Given the description of an element on the screen output the (x, y) to click on. 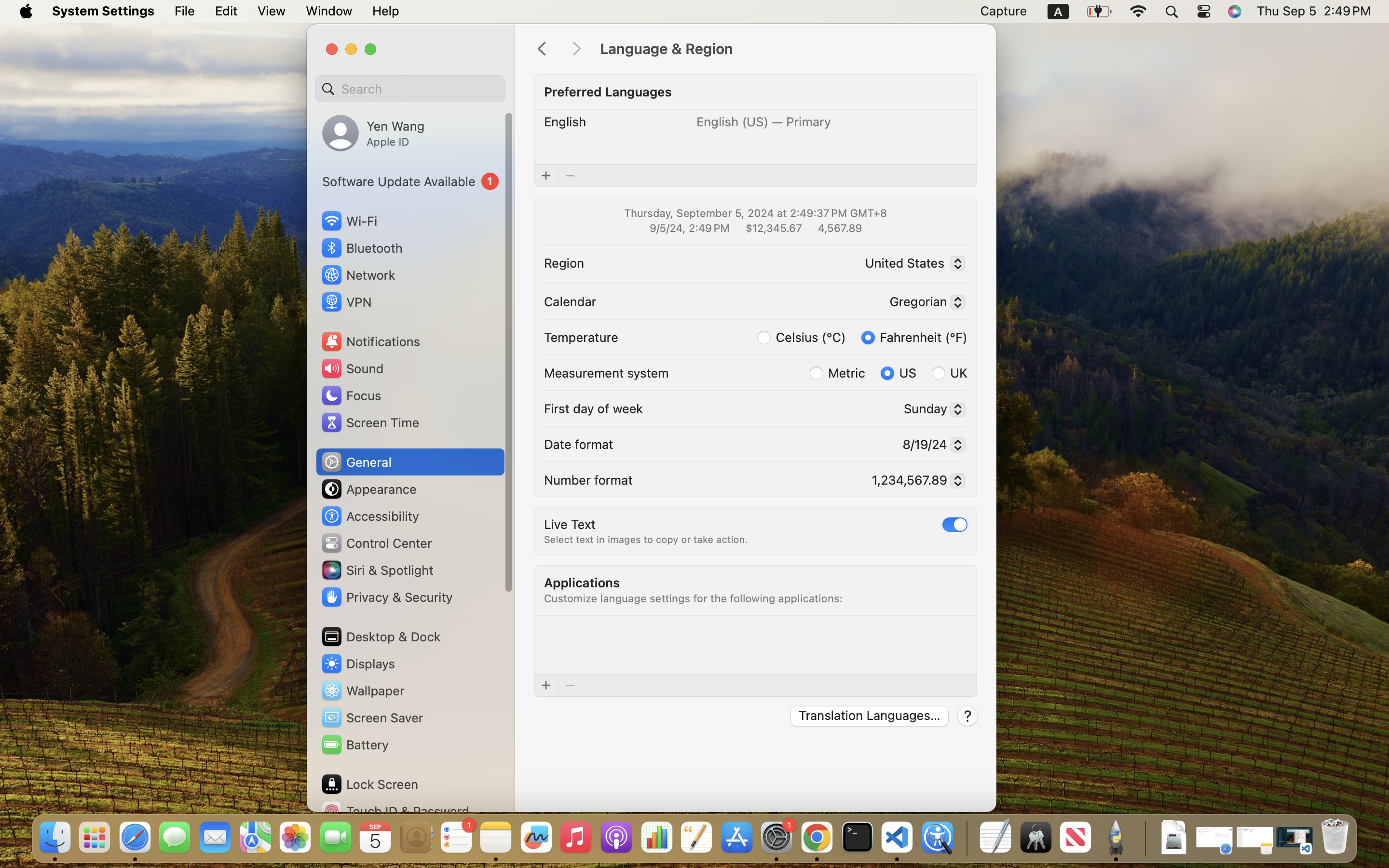
Touch ID & Password Element type: AXStaticText (394, 810)
Wi‑Fi Element type: AXStaticText (348, 220)
Wallpaper Element type: AXStaticText (362, 690)
Screen Saver Element type: AXStaticText (371, 717)
Language & Region Element type: AXStaticText (788, 49)
